Given the description of an element on the screen output the (x, y) to click on. 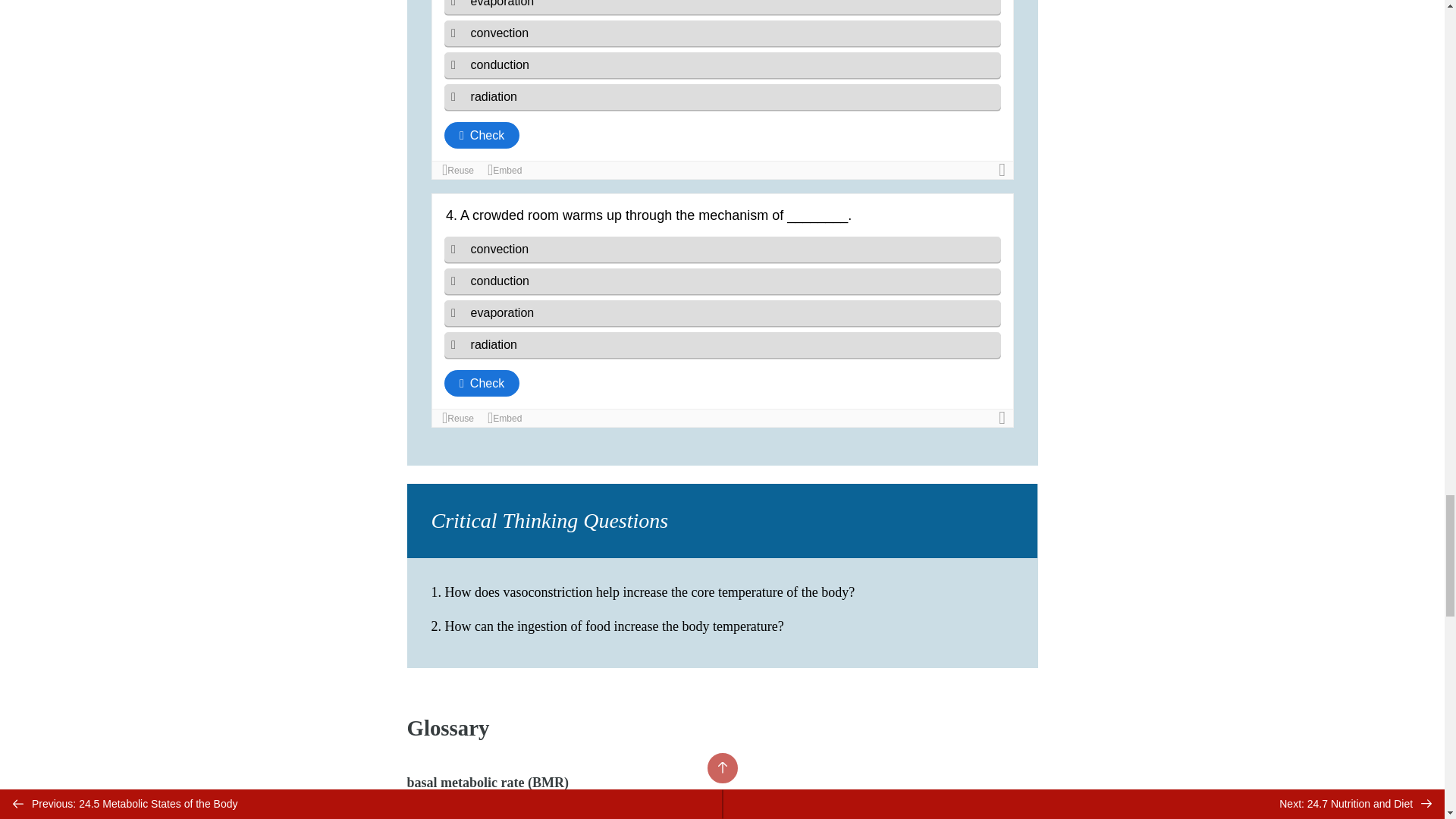
Ch 24.6 Q3 (721, 89)
